Given the description of an element on the screen output the (x, y) to click on. 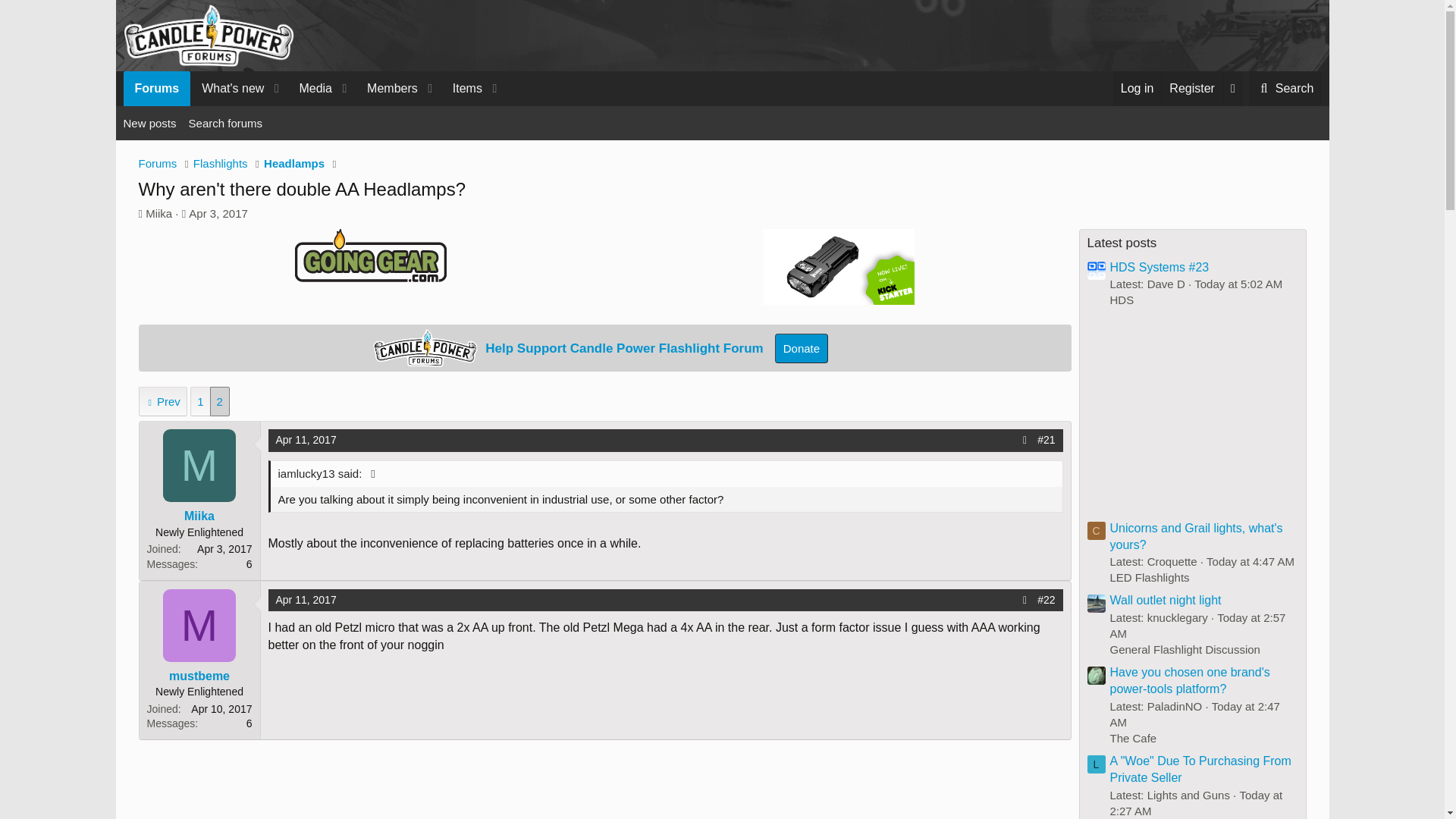
Apr 11, 2017 at 6:42 AM (306, 439)
Apr 11, 2017 at 4:39 PM (306, 599)
Log in (1137, 88)
Forums (721, 139)
Items (156, 88)
Register (462, 88)
Search (1191, 88)
What's new (1285, 88)
Members (227, 88)
